Given the description of an element on the screen output the (x, y) to click on. 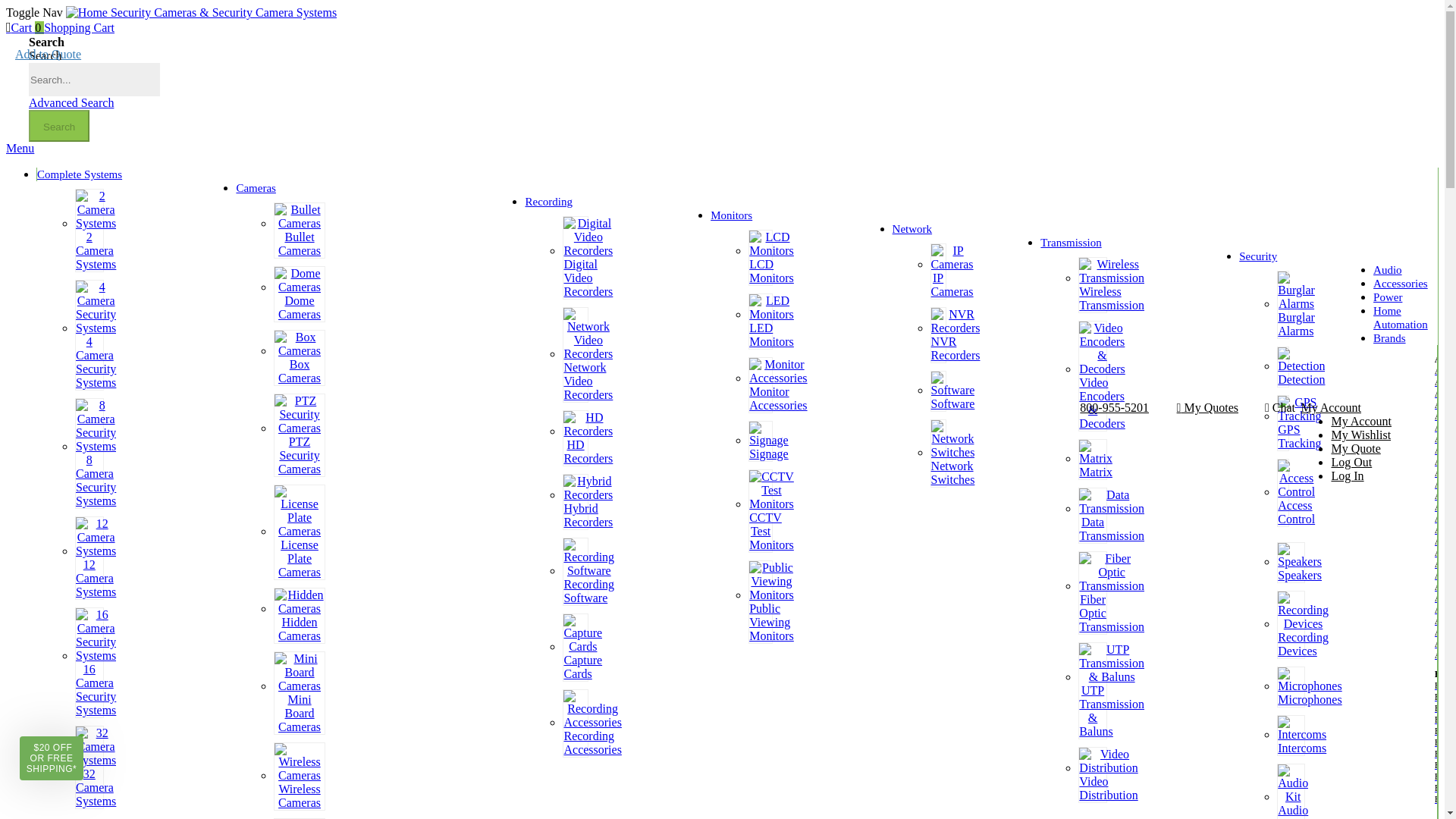
Dome Cameras (299, 307)
My Wishlist (1360, 434)
My Account (1330, 407)
My Quote (1355, 448)
Search (58, 125)
PTZ Security Cameras (299, 454)
8009555201 (1114, 407)
Shopping Cart (79, 27)
My Quotes (1207, 407)
Box Cameras (299, 370)
12 Camera Systems (95, 577)
800-955-5201 (1114, 407)
Complete Systems (79, 174)
16 Camera Security Systems (95, 689)
Log In (1346, 475)
